Given the description of an element on the screen output the (x, y) to click on. 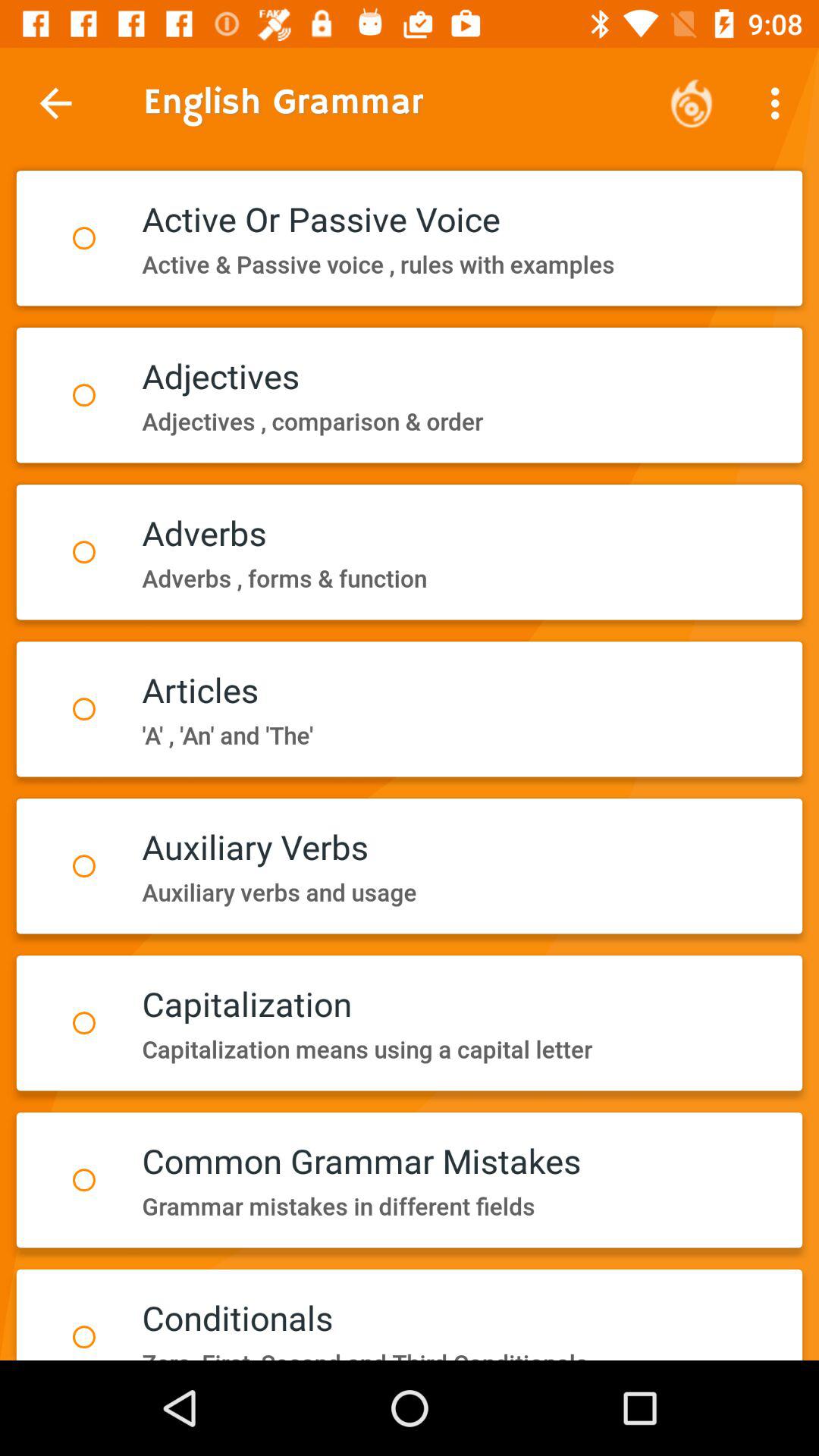
click the item to the left of the english grammar icon (55, 103)
